Given the description of an element on the screen output the (x, y) to click on. 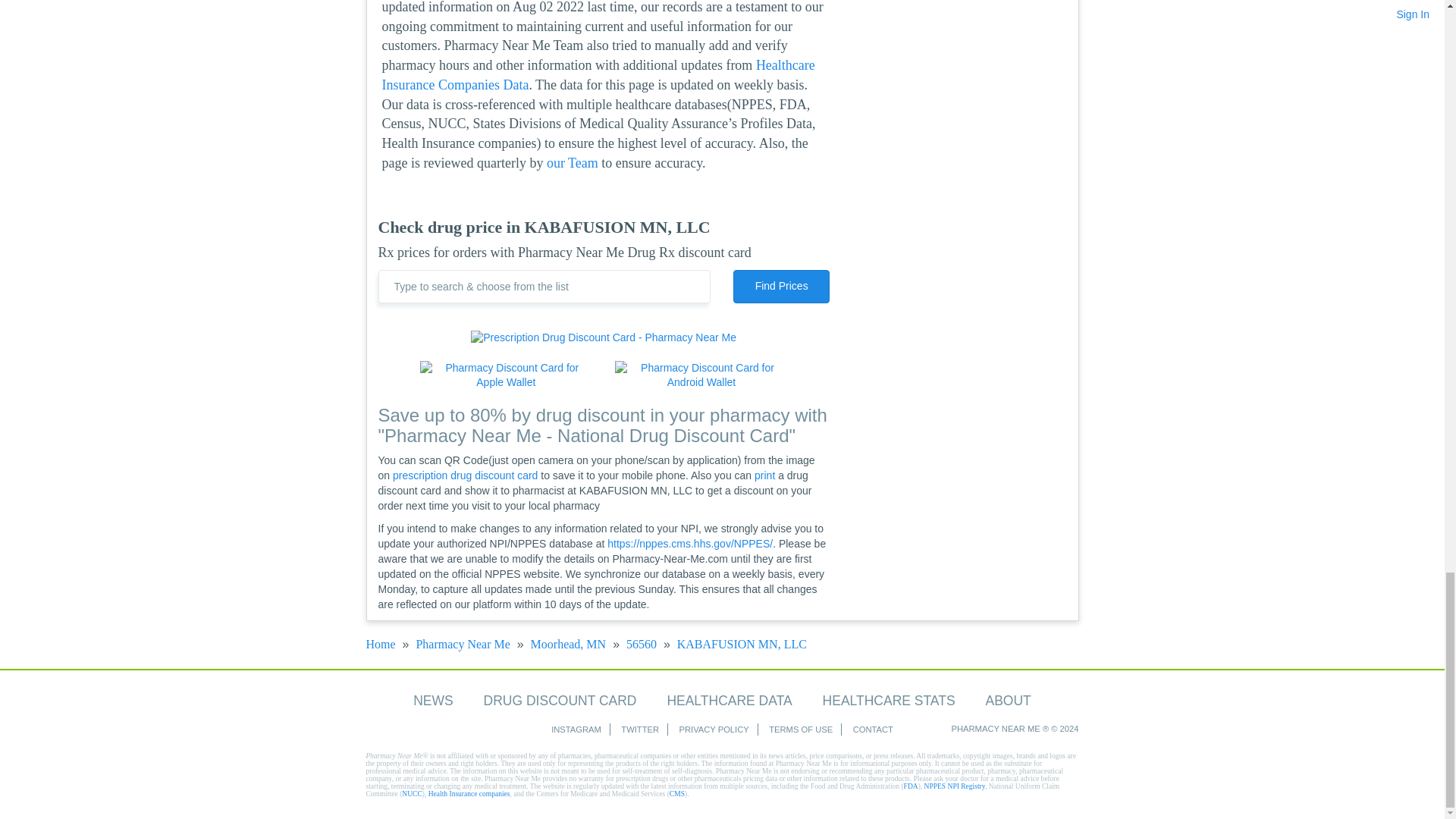
prescription drug discount card (465, 475)
Find Prices (780, 286)
Healthcare Insurance Companies Data (598, 74)
Find Prices (780, 286)
print (764, 475)
our Team (572, 162)
